Given the description of an element on the screen output the (x, y) to click on. 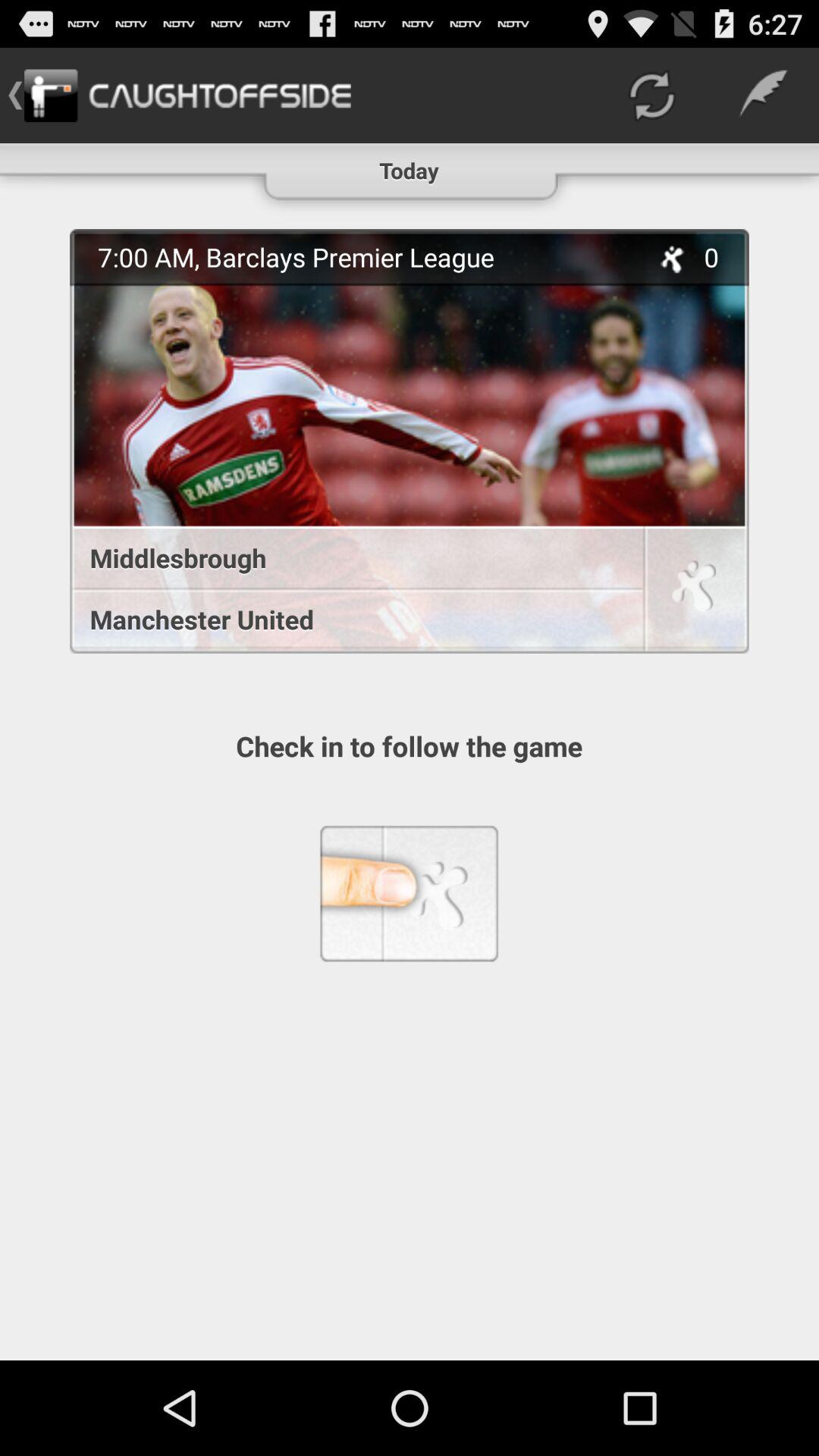
follow the game (694, 591)
